Given the description of an element on the screen output the (x, y) to click on. 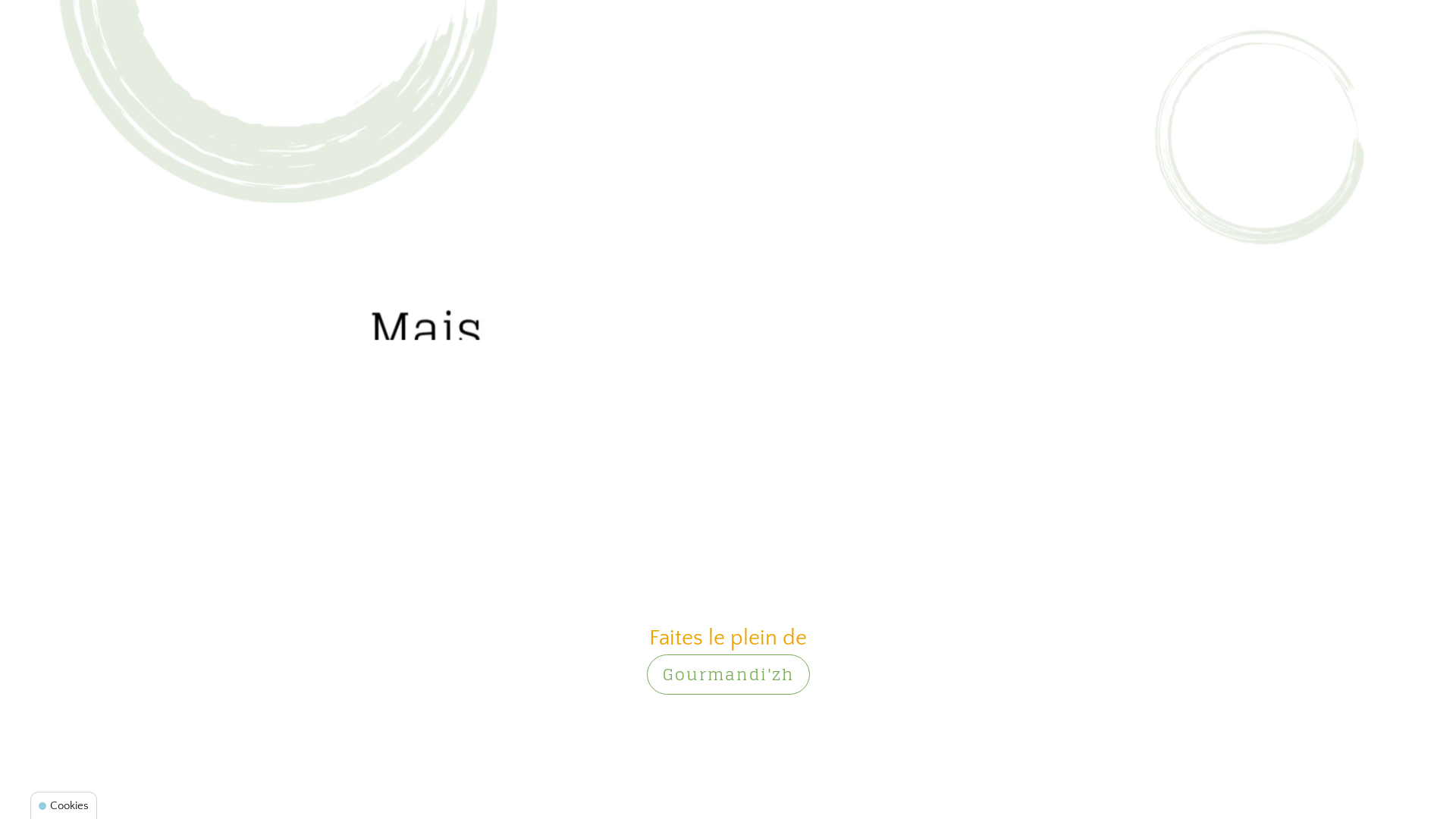
Gourmandi'zh Element type: text (727, 674)
